Given the description of an element on the screen output the (x, y) to click on. 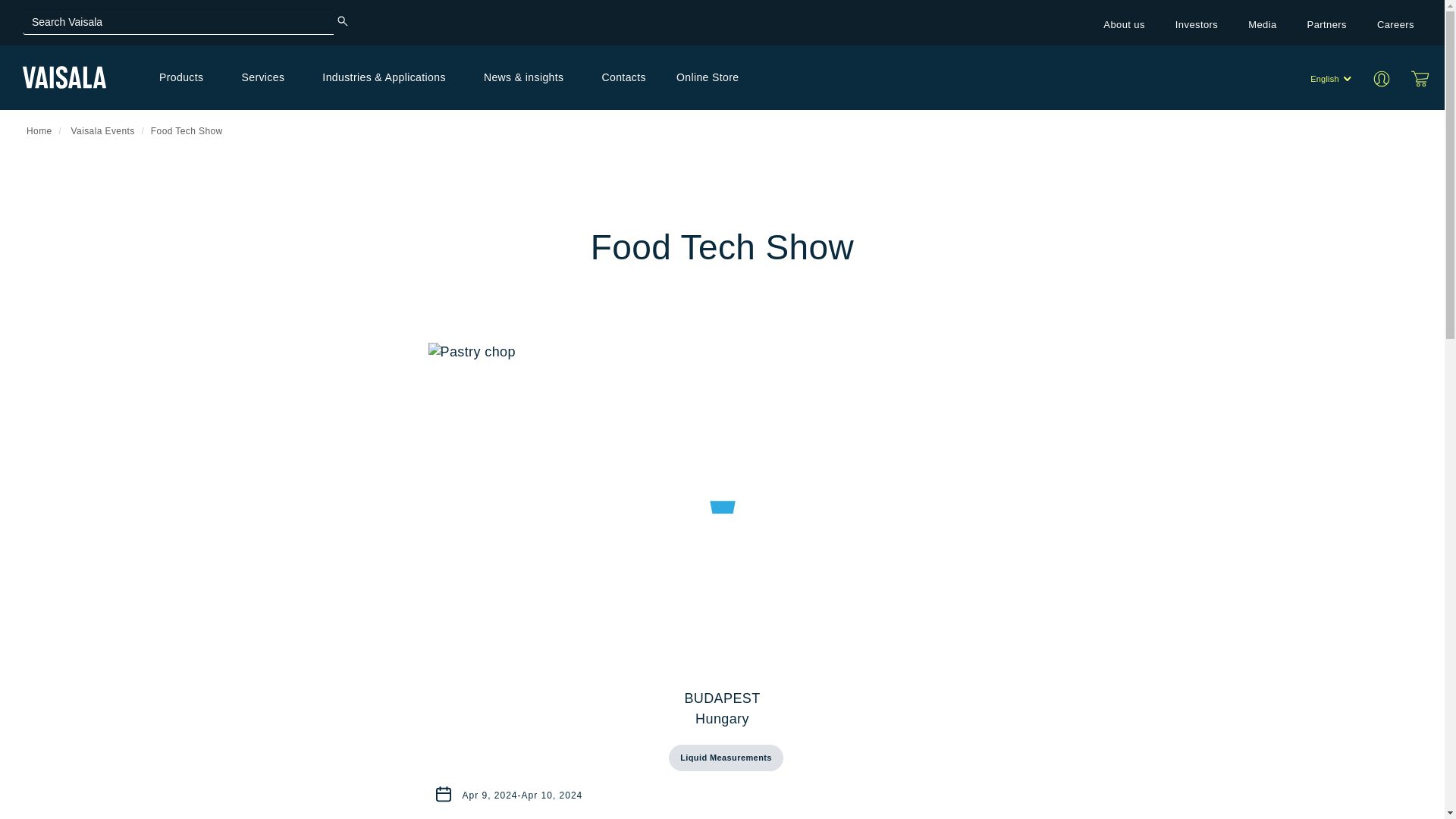
Online Store (1419, 78)
Login to MyVaisala (1386, 77)
Home (64, 77)
